Given the description of an element on the screen output the (x, y) to click on. 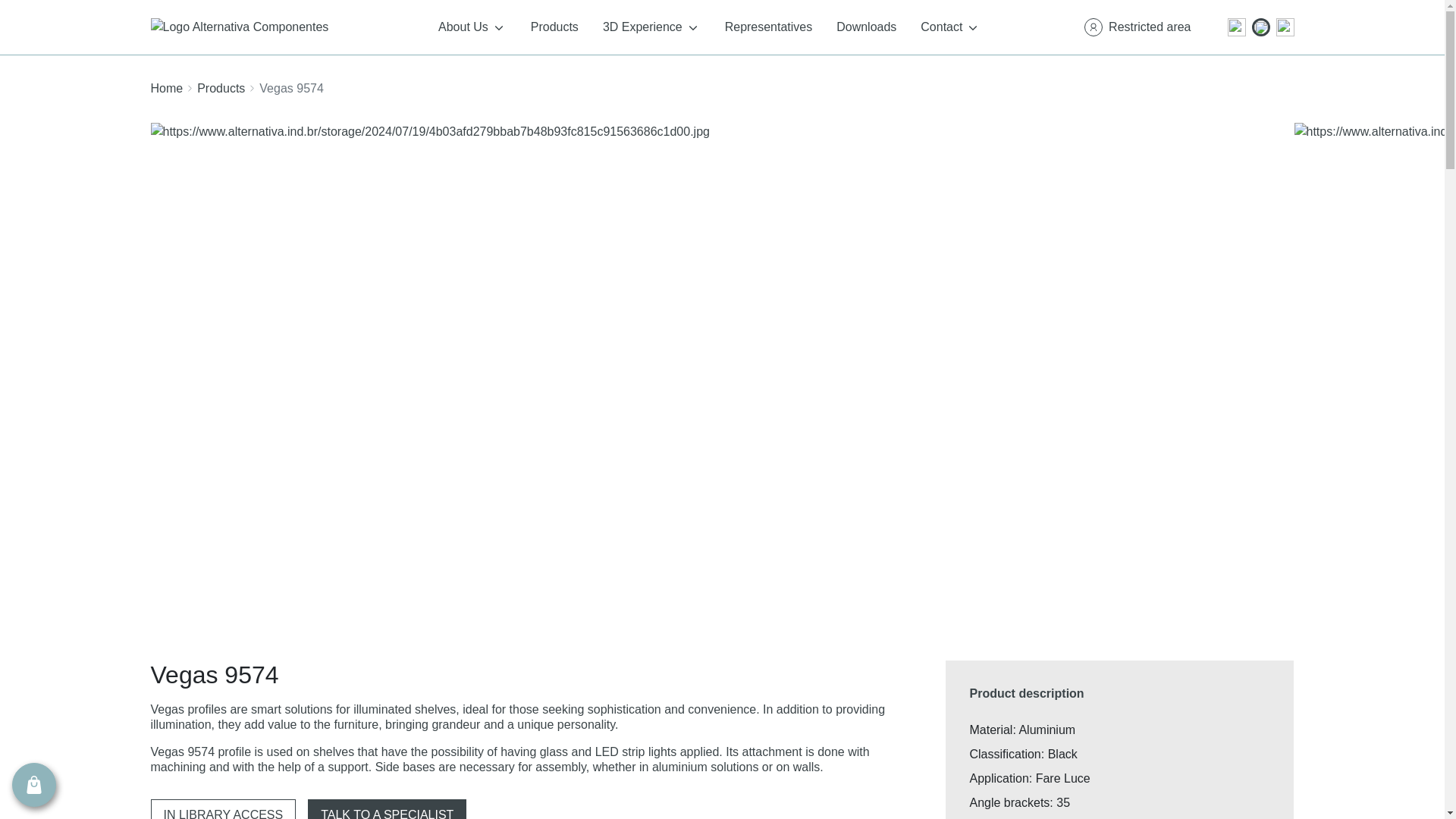
3D Experience (652, 27)
Contact (950, 27)
Representatives (769, 27)
Home (166, 88)
Restricted area (1136, 27)
Contact (950, 27)
English (1259, 27)
TALK TO A SPECIALIST (386, 809)
IN LIBRARY ACCESS (222, 809)
Downloads (866, 27)
